Given the description of an element on the screen output the (x, y) to click on. 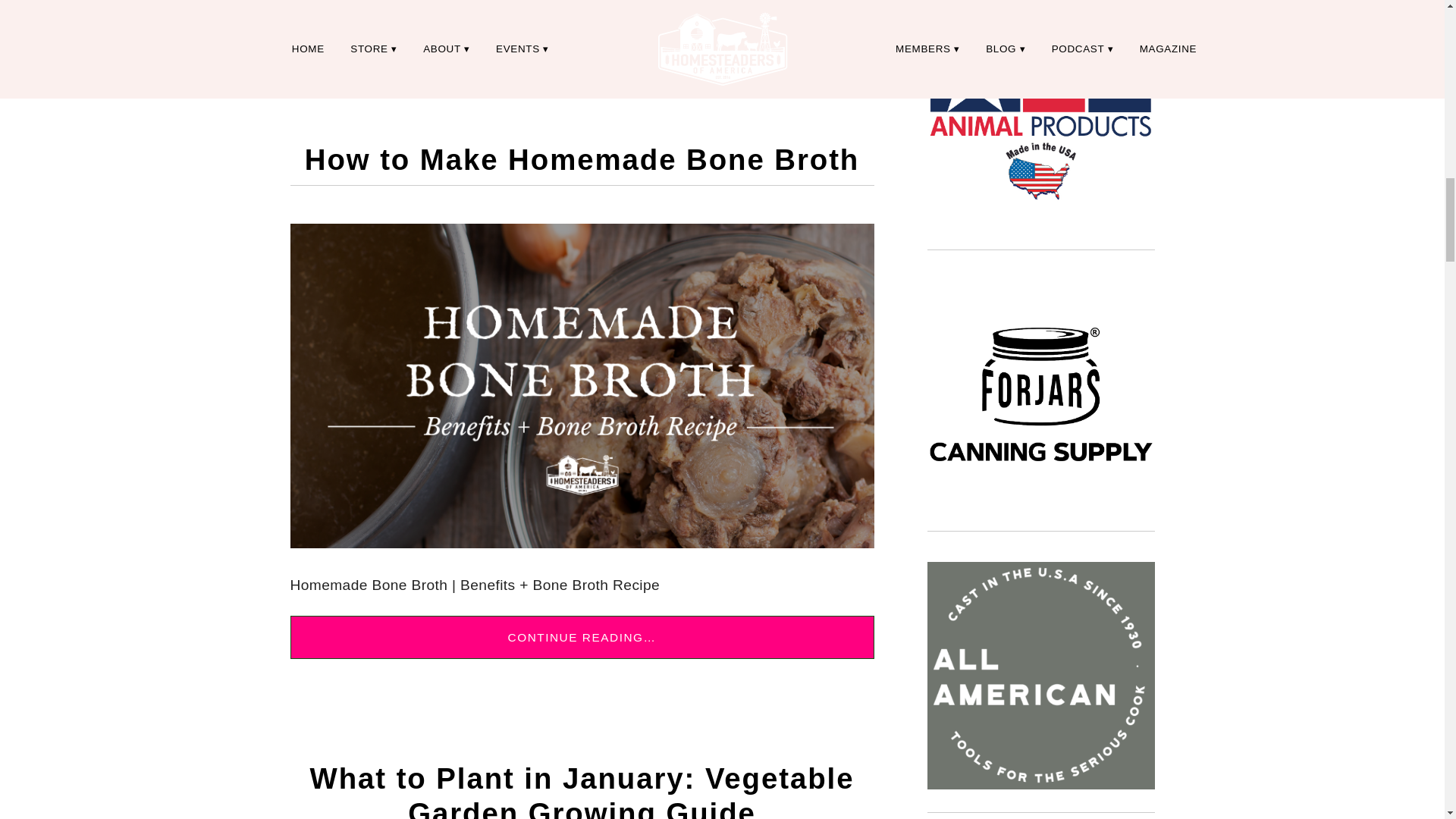
How to Make Homemade Bone Broth (581, 159)
What to Plant in January: Vegetable Garden Growing Guide (582, 790)
